Given the description of an element on the screen output the (x, y) to click on. 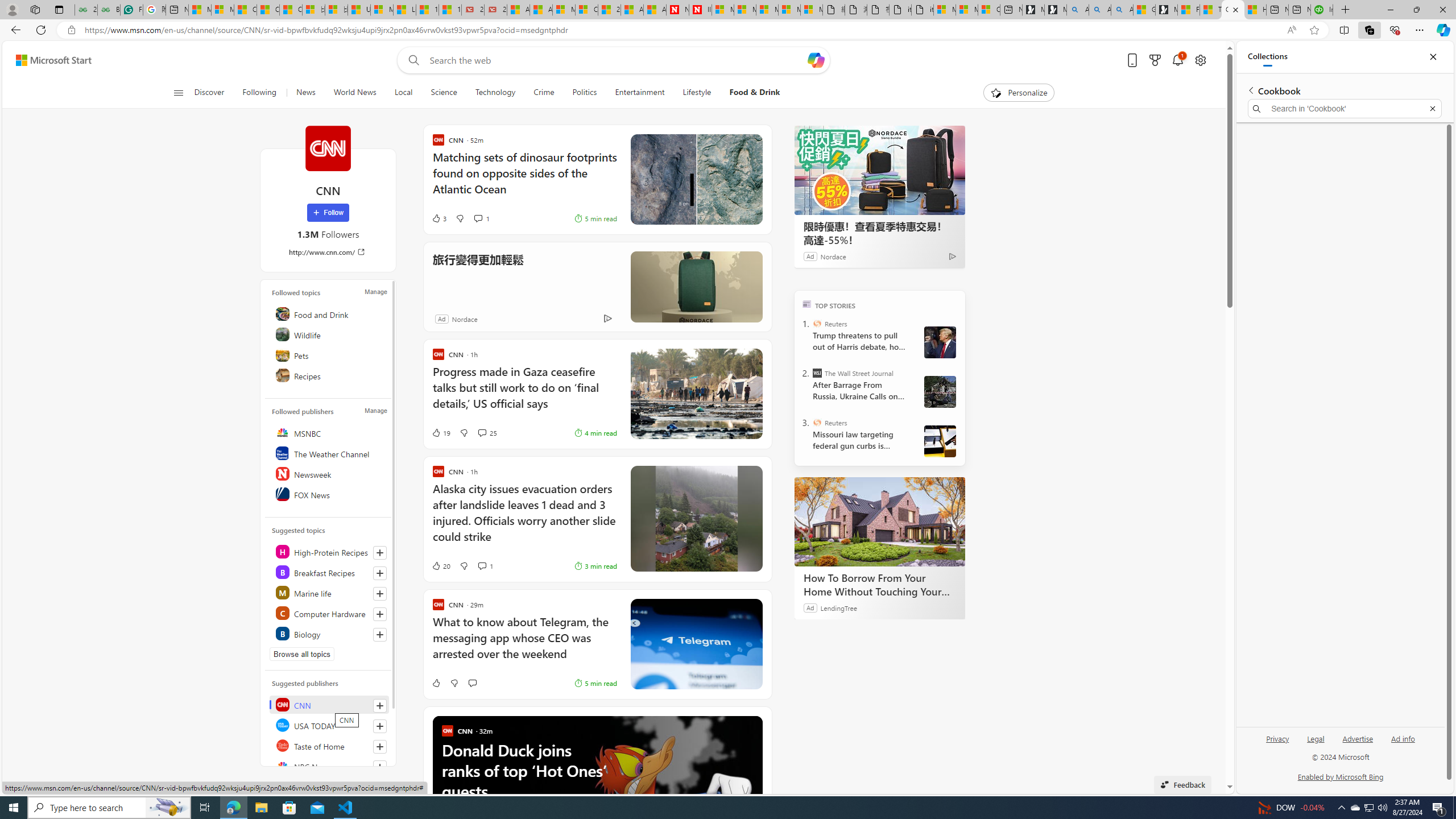
20 Ways to Boost Your Protein Intake at Every Meal (609, 9)
Entertainment (639, 92)
World News (354, 92)
Microsoft Services Agreement (745, 9)
Microsoft Start Gaming (1166, 9)
Advertise (1357, 738)
Lifestyle (696, 92)
